Given the description of an element on the screen output the (x, y) to click on. 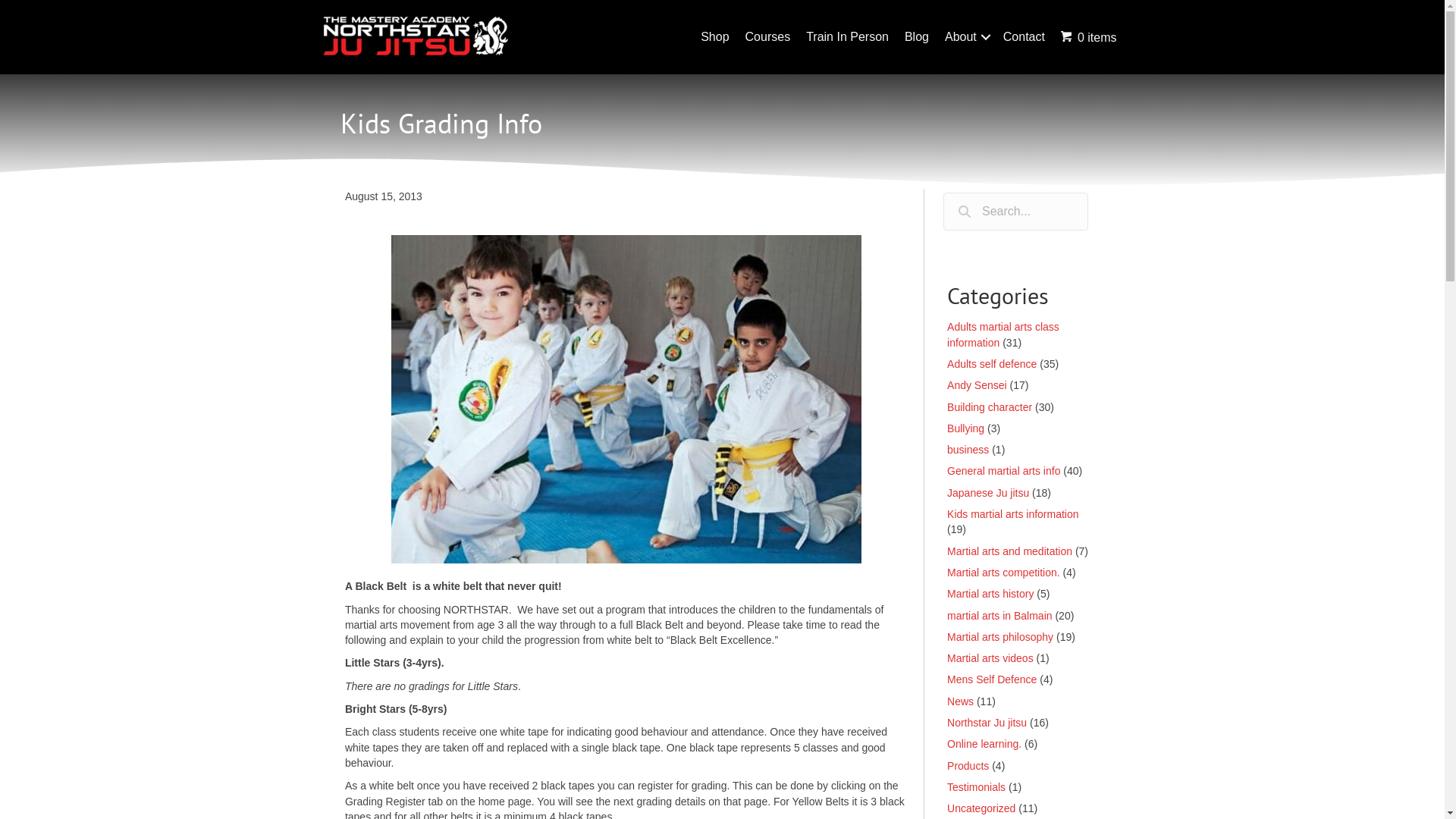
Building character Element type: text (989, 407)
General martial arts info Element type: text (1003, 470)
Train In Person Element type: text (847, 36)
Martial arts competition. Element type: text (1003, 572)
Martial arts and meditation Element type: text (1009, 551)
Martial arts history Element type: text (990, 593)
Kids martial arts information Element type: text (1013, 514)
Bright-Stars_004 Element type: hover (626, 399)
Uncategorized Element type: text (981, 808)
Bullying Element type: text (965, 428)
Courses Element type: text (767, 36)
Mens Self Defence Element type: text (991, 679)
News Element type: text (960, 701)
business Element type: text (967, 449)
Japanese Ju jitsu Element type: text (988, 492)
Contact Element type: text (1023, 36)
Adults self defence Element type: text (991, 363)
Shop Element type: text (714, 36)
Online learning. Element type: text (984, 743)
Martial arts philosophy Element type: text (1000, 636)
Products Element type: text (967, 765)
Martial arts videos Element type: text (990, 658)
Nnorthstar Ju jitsu Academy Element type: hover (414, 37)
Blog Element type: text (916, 36)
Testimonials Element type: text (976, 787)
About Element type: text (965, 36)
Northstar Ju jitsu Element type: text (986, 722)
martial arts in Balmain Element type: text (999, 615)
Andy Sensei Element type: text (977, 385)
0 items Element type: text (1088, 36)
Adults martial arts class information Element type: text (1003, 334)
